Given the description of an element on the screen output the (x, y) to click on. 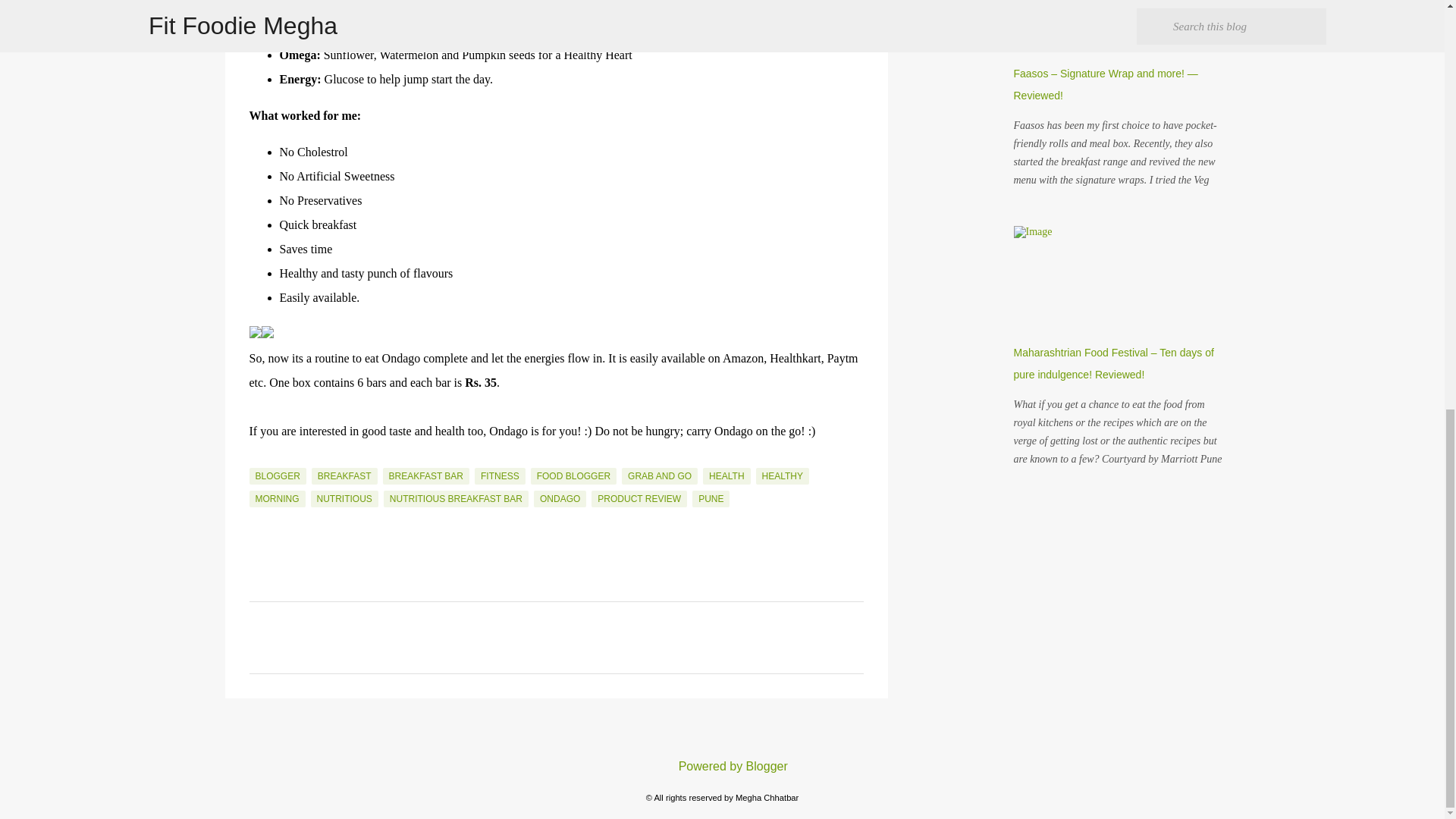
FOOD BLOGGER (573, 475)
HEALTHY (782, 475)
PUNE (711, 498)
PRODUCT REVIEW (639, 498)
NUTRITIOUS BREAKFAST BAR (456, 498)
BREAKFAST (344, 475)
HEALTH (726, 475)
NUTRITIOUS (344, 498)
MORNING (276, 498)
GRAB AND GO (659, 475)
BLOGGER (276, 475)
FITNESS (499, 475)
Email Post (257, 458)
ONDAGO (560, 498)
Advertisement (964, 31)
